Given the description of an element on the screen output the (x, y) to click on. 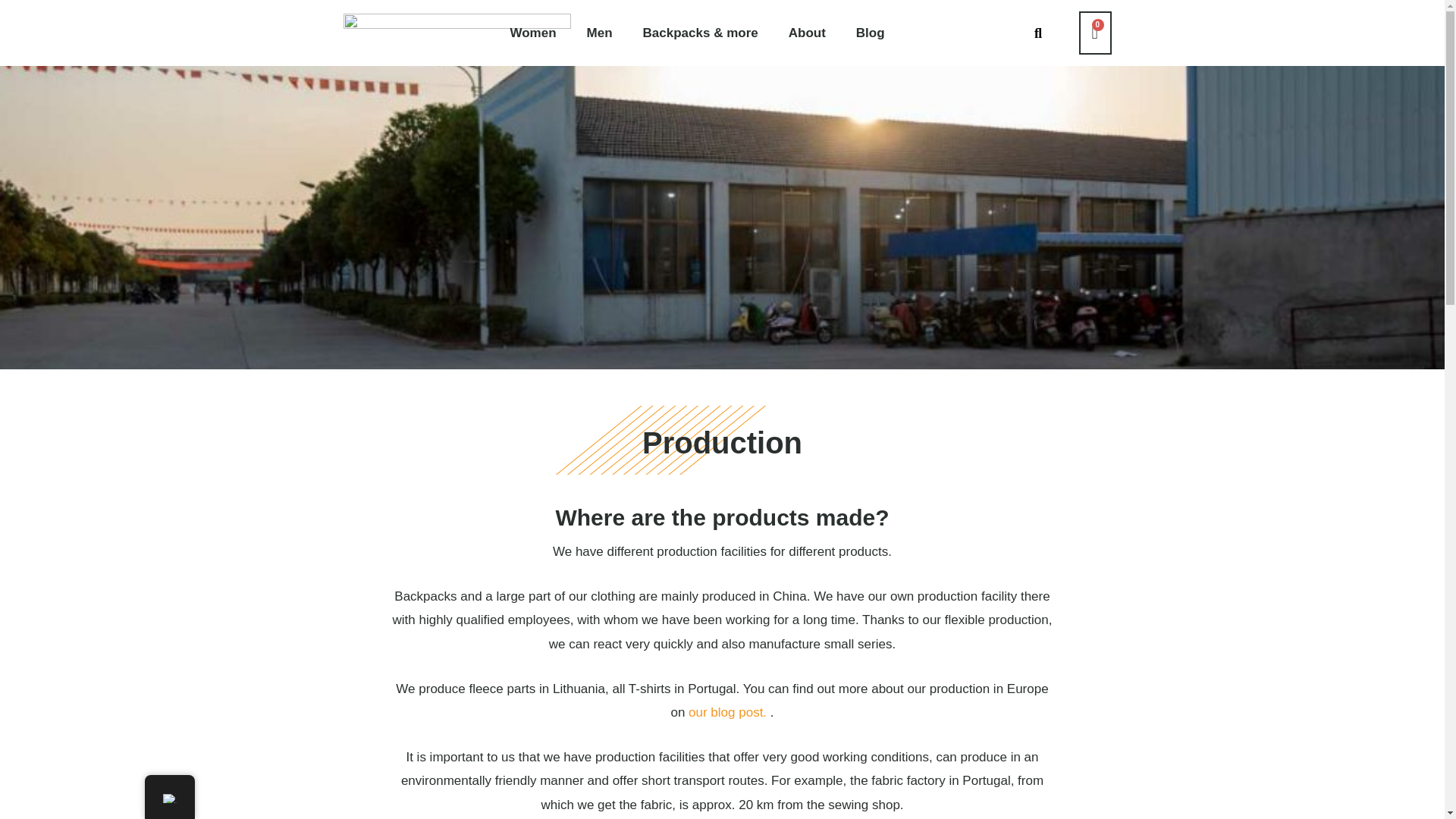
English (168, 798)
Women (532, 32)
Men (599, 32)
